Given the description of an element on the screen output the (x, y) to click on. 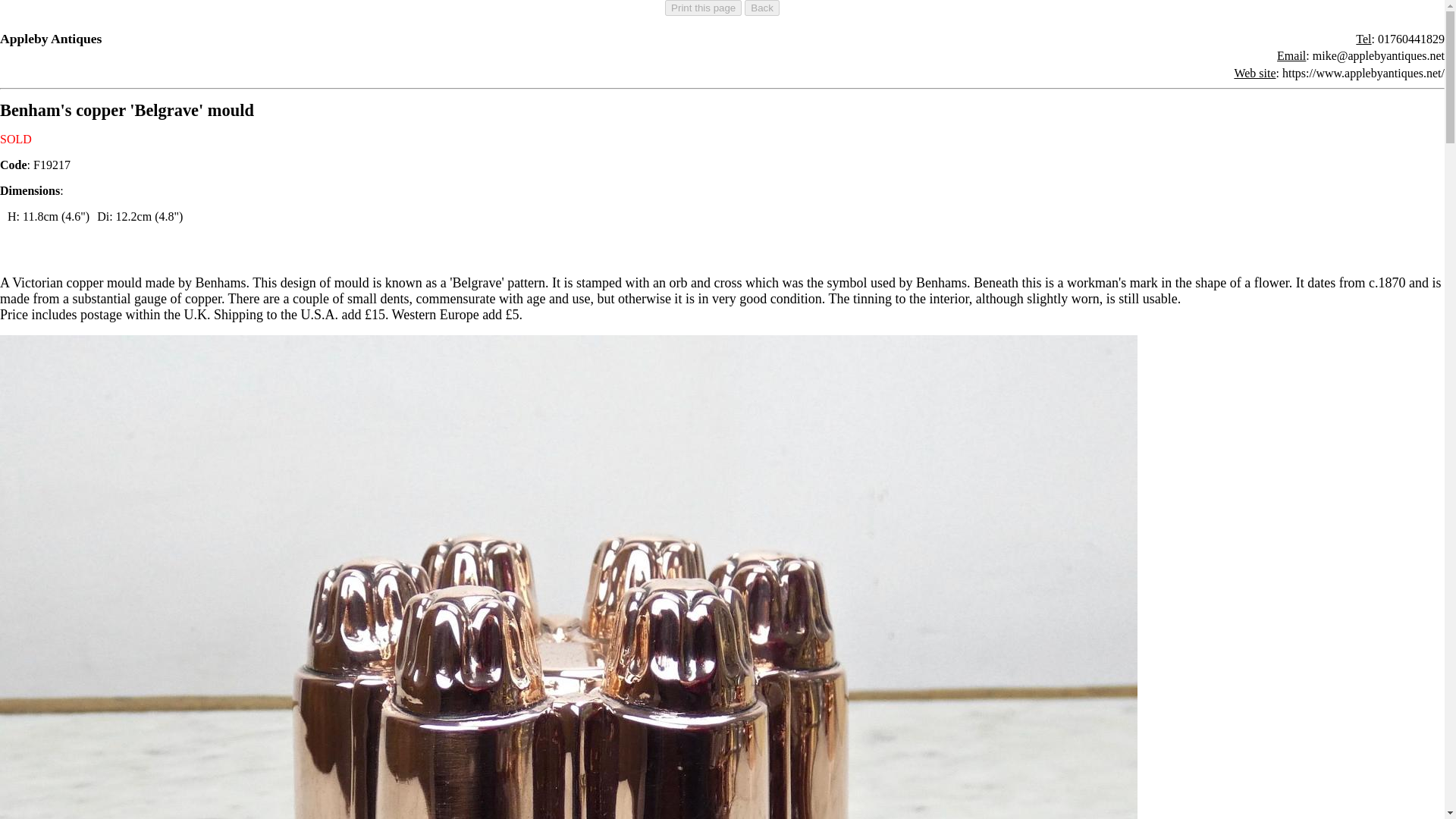
Print this page (703, 7)
Back (761, 7)
